Given the description of an element on the screen output the (x, y) to click on. 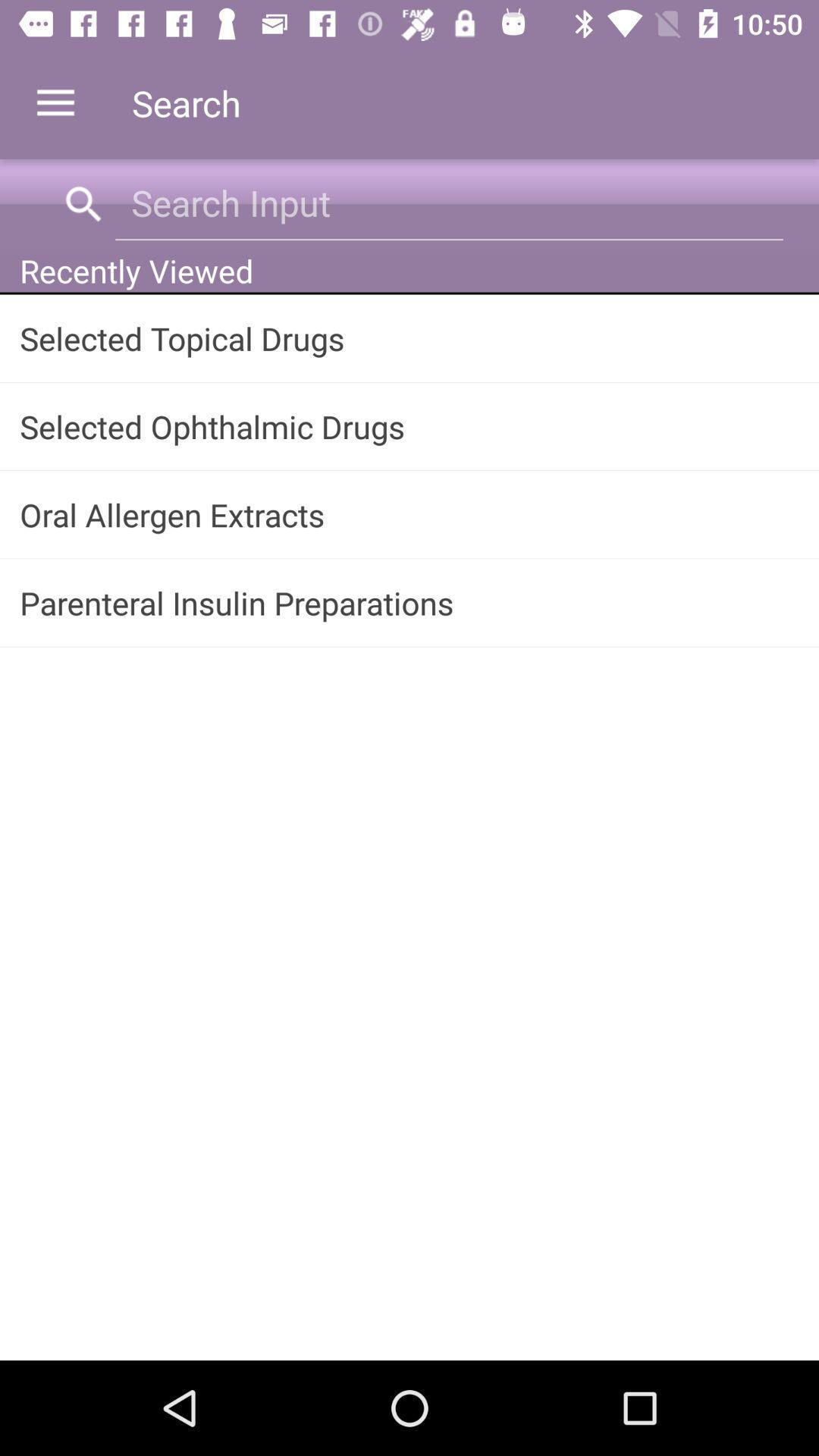
select the selected ophthalmic drugs icon (409, 426)
